Given the description of an element on the screen output the (x, y) to click on. 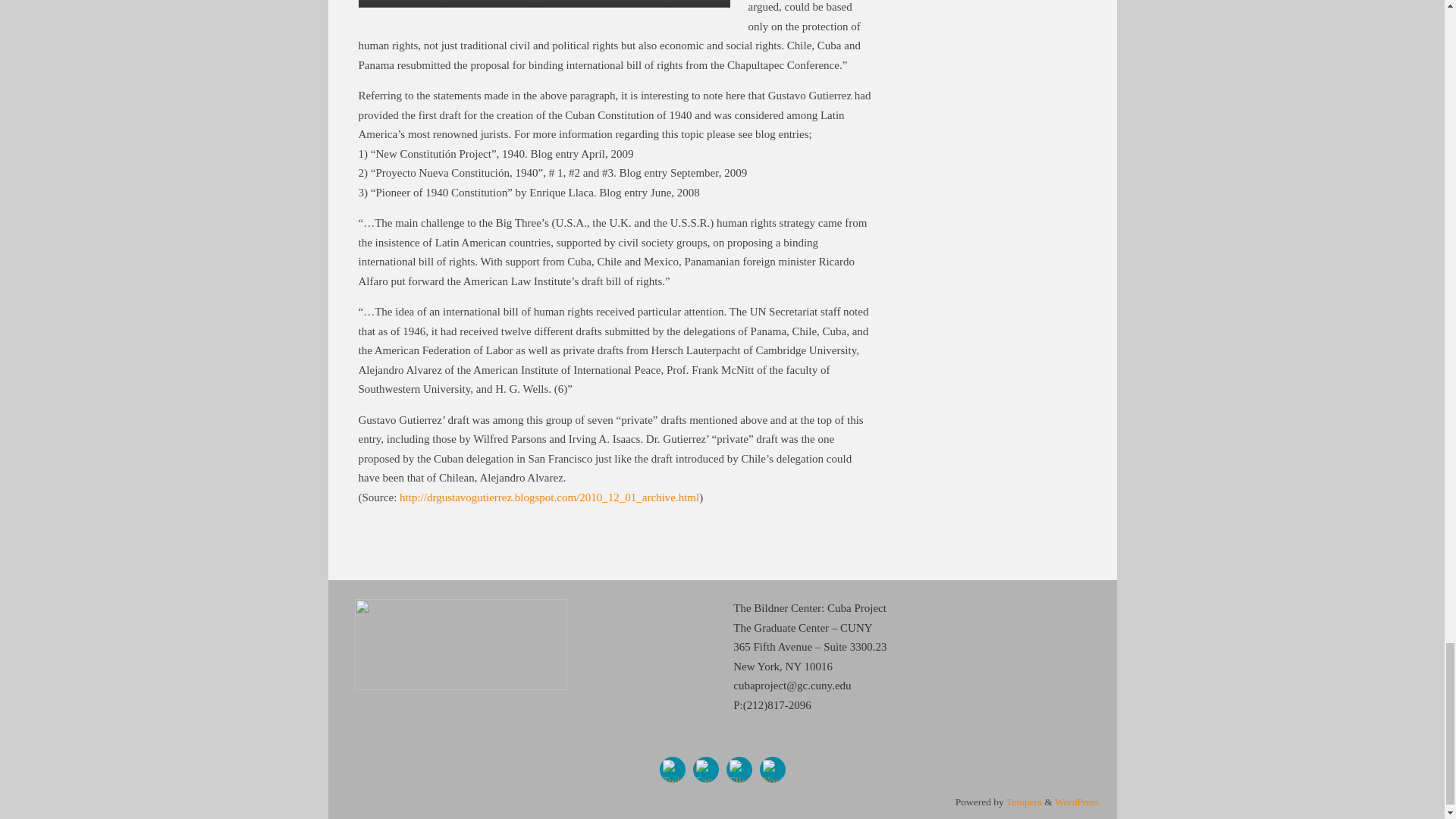
Twitter (672, 769)
Facebook (706, 769)
